Given the description of an element on the screen output the (x, y) to click on. 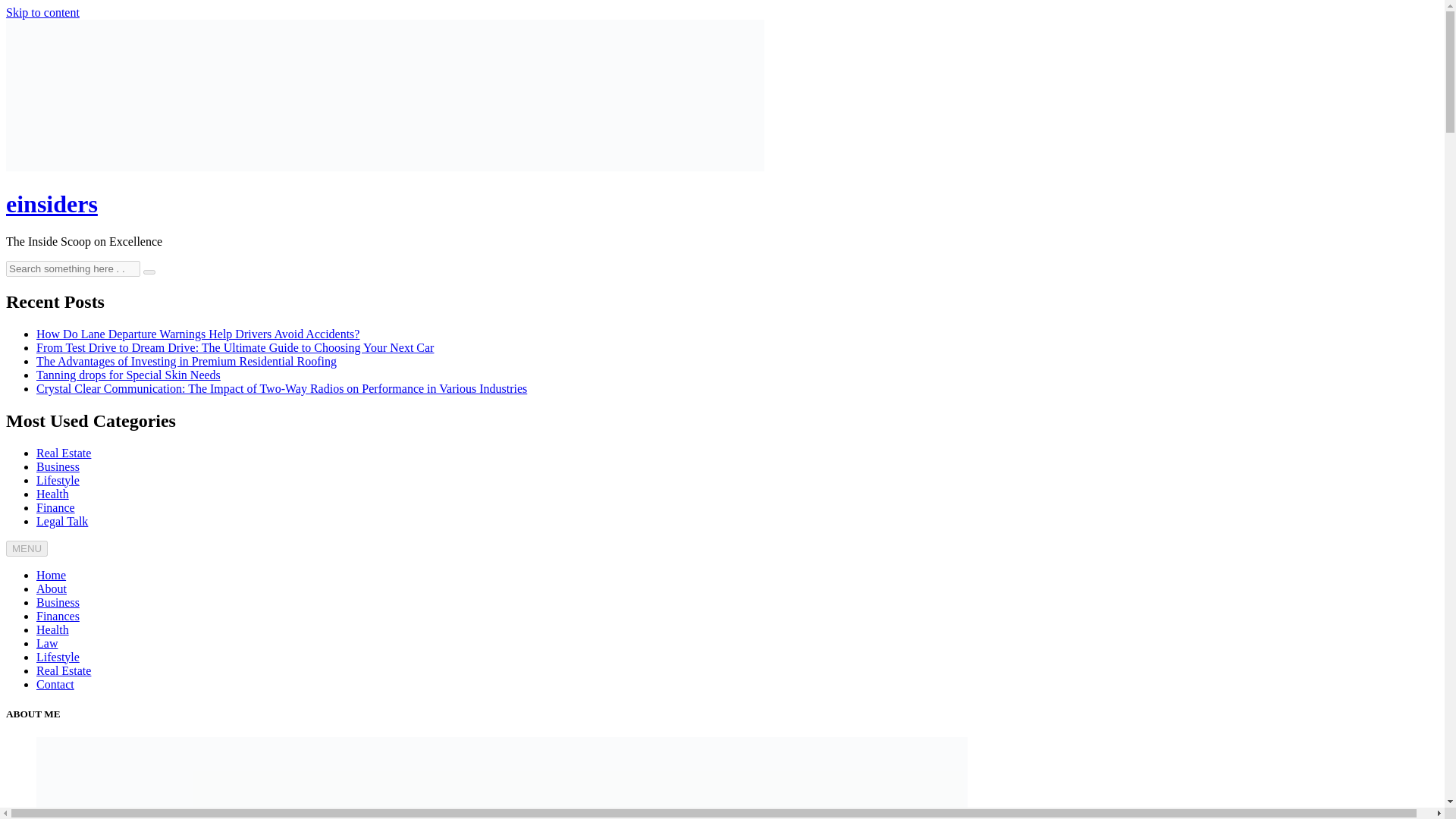
The Advantages of Investing in Premium Residential Roofing (186, 360)
Lifestyle (58, 479)
Real Estate (63, 451)
About (51, 588)
Finances (58, 615)
einsiders (51, 203)
MENU (26, 547)
Health (52, 629)
Business (58, 602)
Health (52, 492)
Contact (55, 684)
Legal Talk (61, 520)
Finance (55, 506)
